Given the description of an element on the screen output the (x, y) to click on. 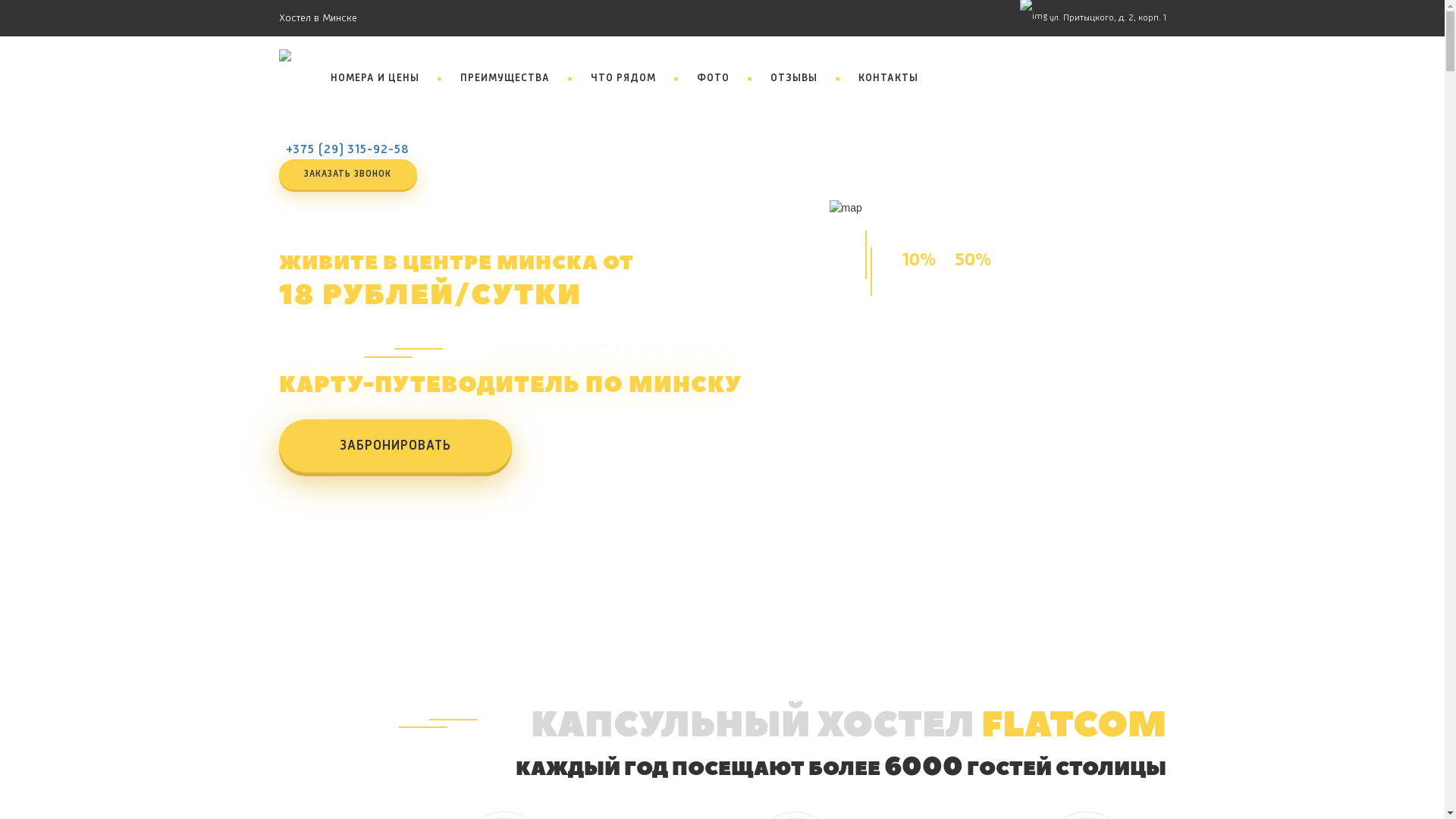
+375 (29) 315-92-58 Element type: text (347, 150)
